Given the description of an element on the screen output the (x, y) to click on. 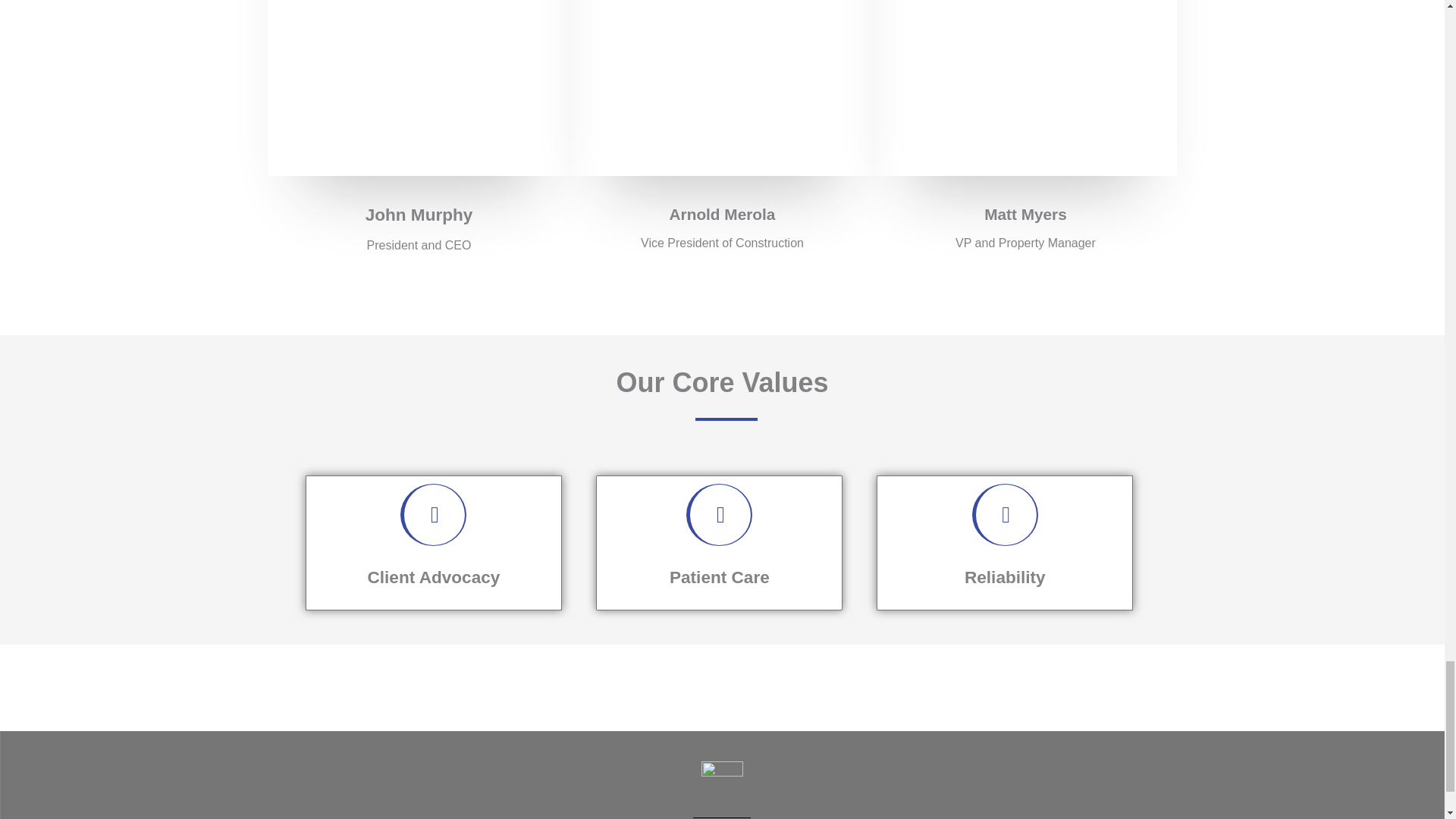
Reliability (1004, 577)
Client Advocacy (434, 577)
Patient Care (719, 577)
John Murphy (419, 214)
